Given the description of an element on the screen output the (x, y) to click on. 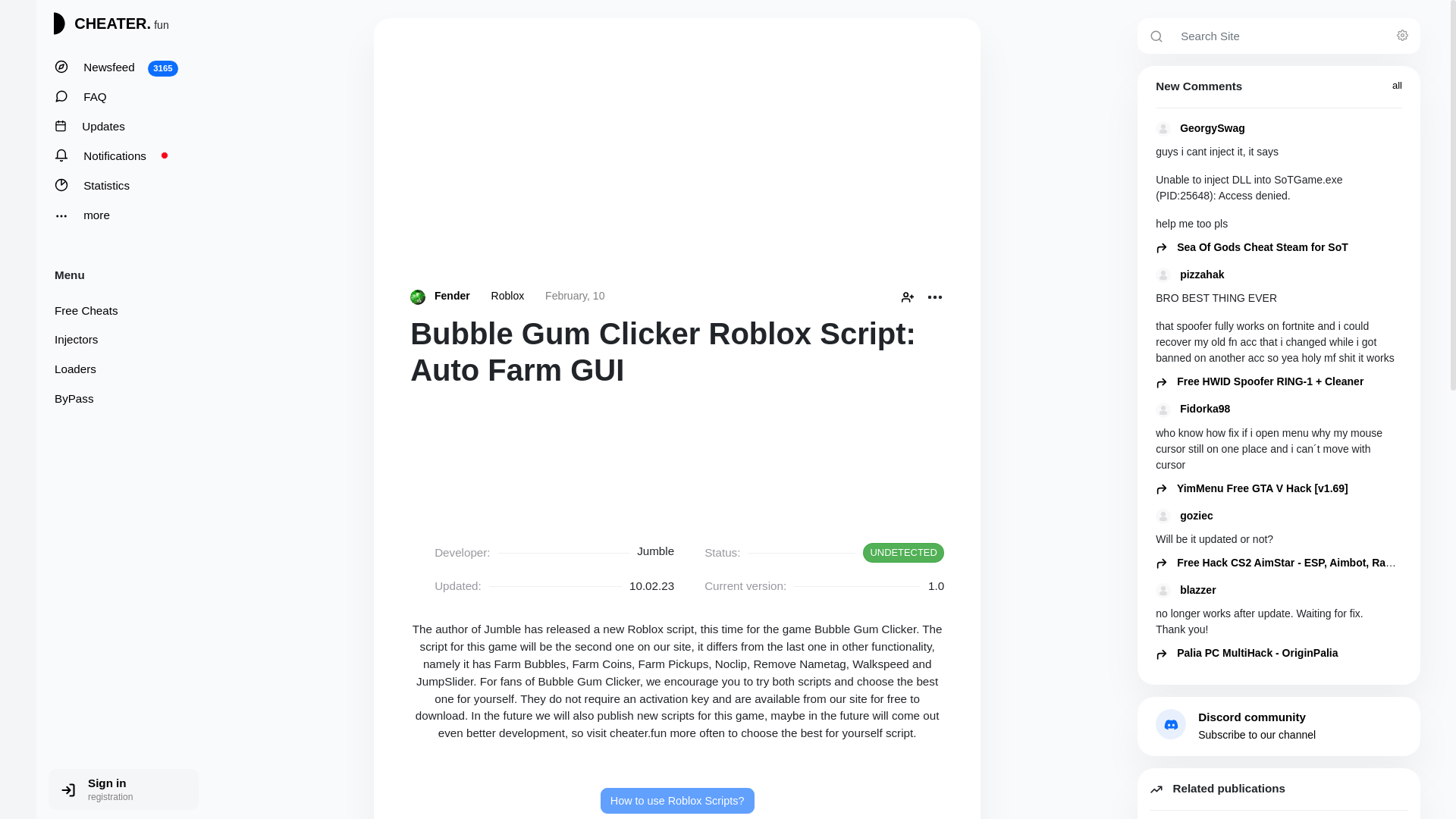
GeorgySwag (1279, 128)
more (116, 67)
Advanced Search (116, 215)
Fender (1404, 35)
Advertisement (462, 295)
Roblox (676, 153)
Free Cheats (508, 295)
FAQ (116, 310)
How to use Roblox Scripts? (116, 97)
ByPass (676, 800)
February, 10 (116, 399)
Statistics (574, 295)
CHEATER. (116, 185)
Loaders (98, 24)
